Given the description of an element on the screen output the (x, y) to click on. 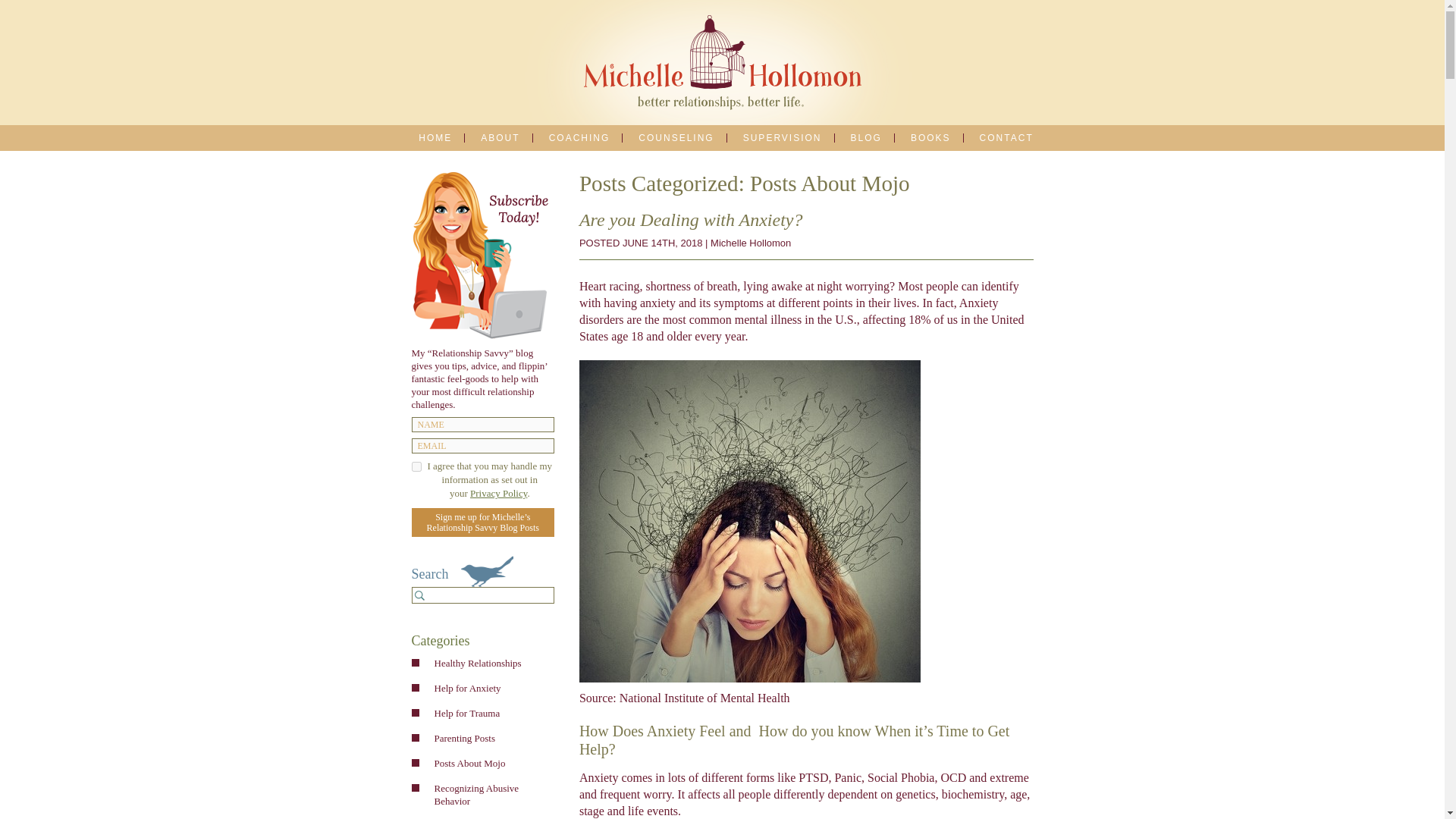
COUNSELING (676, 137)
on (415, 466)
Are you Dealing with Anxiety? (691, 219)
CONTACT (1006, 137)
Are you Dealing with Anxiety? (691, 219)
Healthy Relationships (490, 662)
COACHING (580, 137)
SUPERVISION (782, 137)
Search (420, 595)
BLOG (866, 137)
